Given the description of an element on the screen output the (x, y) to click on. 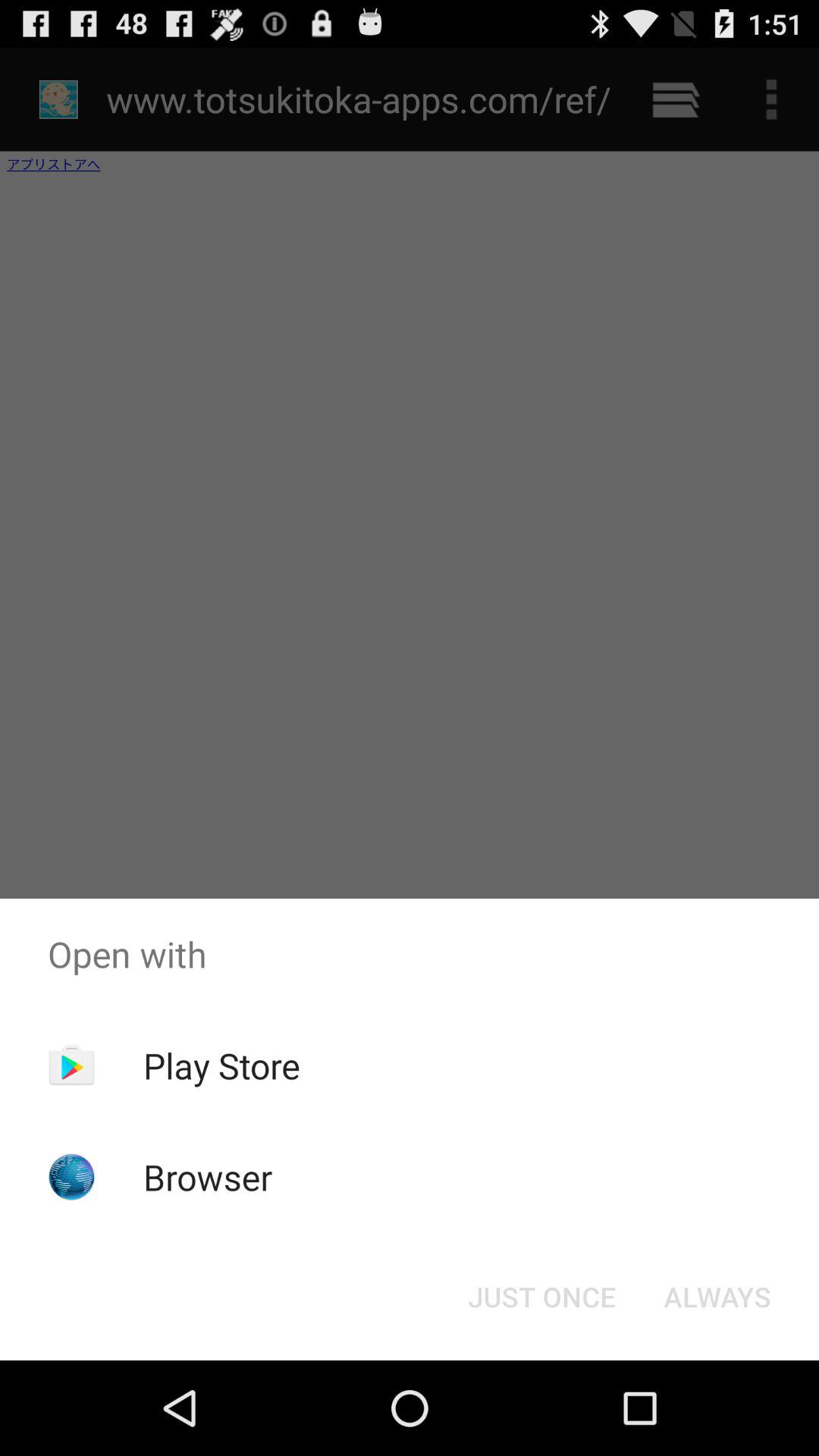
turn on item below the open with item (221, 1065)
